Given the description of an element on the screen output the (x, y) to click on. 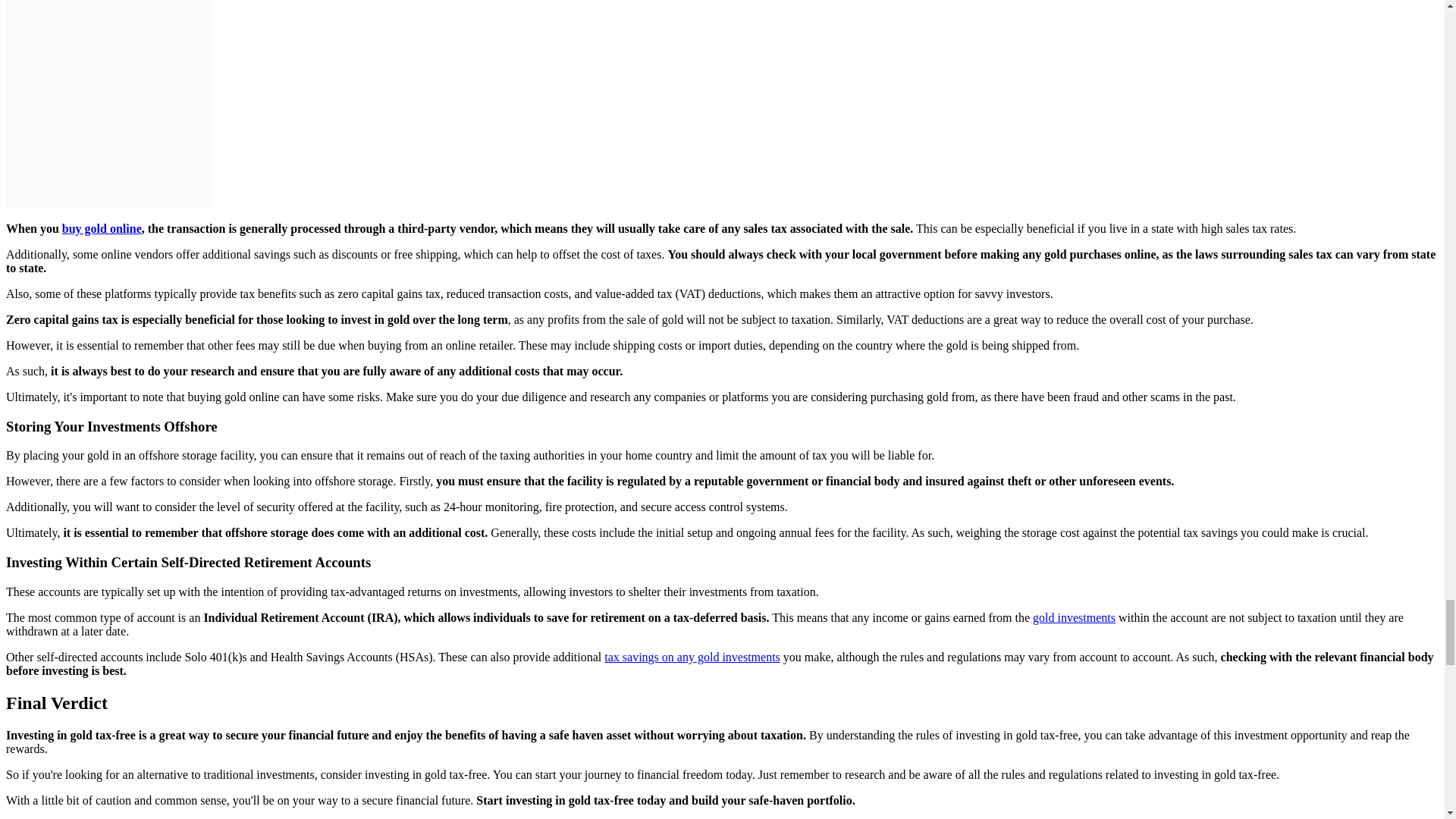
Investing In Gold Tax Free (108, 103)
